Given the description of an element on the screen output the (x, y) to click on. 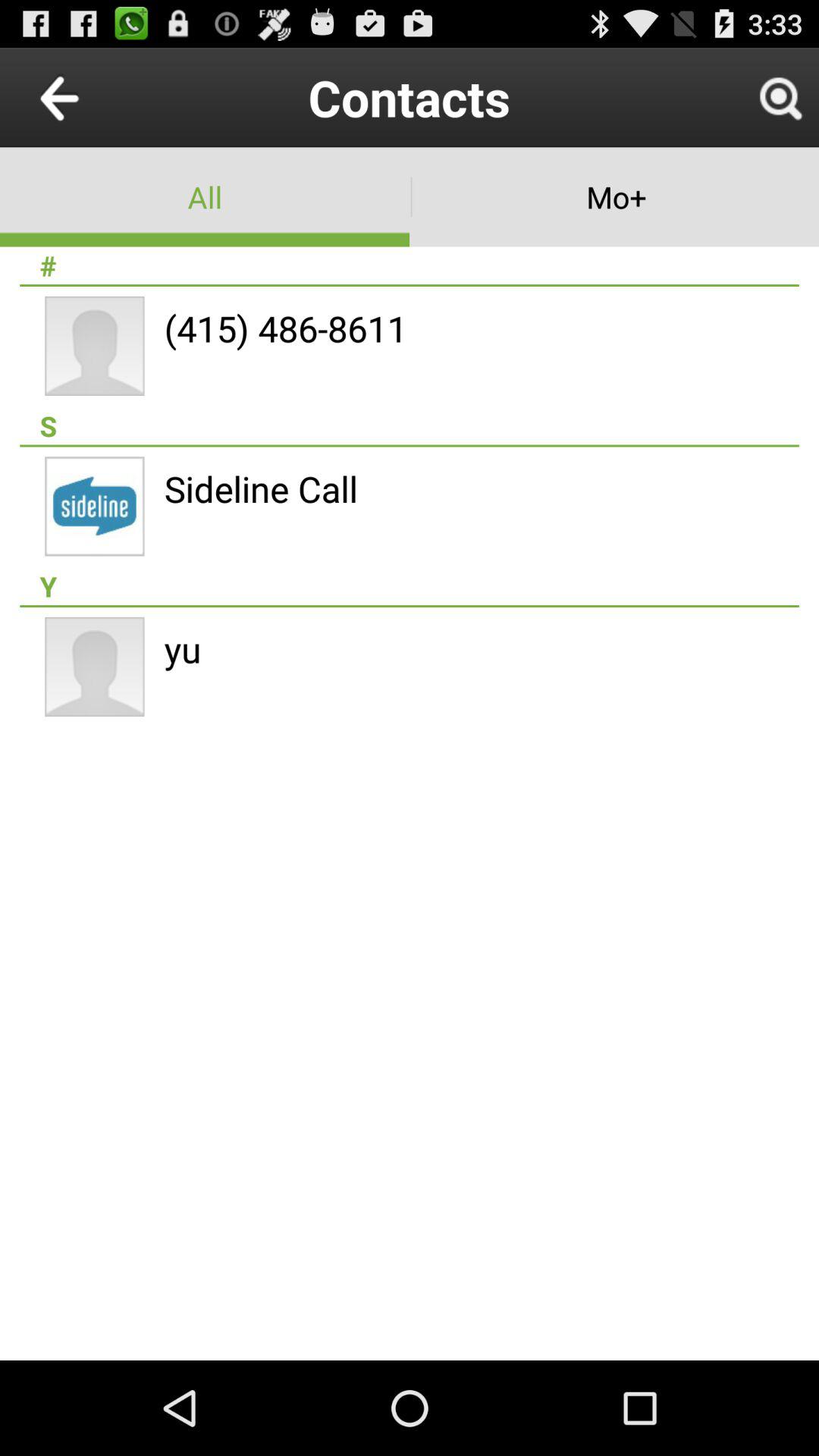
press sideline call item (260, 488)
